Given the description of an element on the screen output the (x, y) to click on. 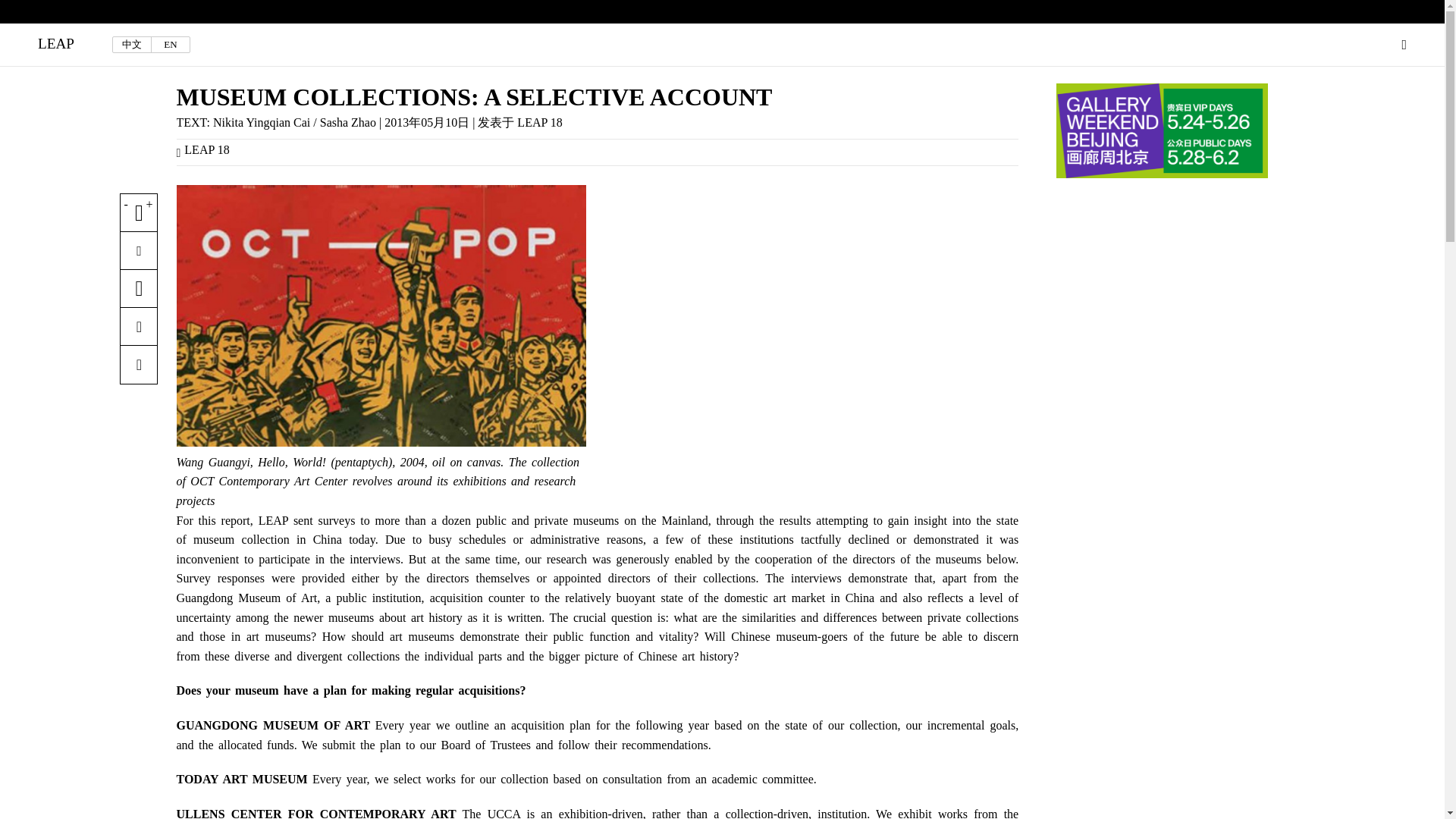
LEAP 18 (539, 122)
LEAP 18 (208, 150)
LEAP (55, 43)
EN (170, 44)
